Given the description of an element on the screen output the (x, y) to click on. 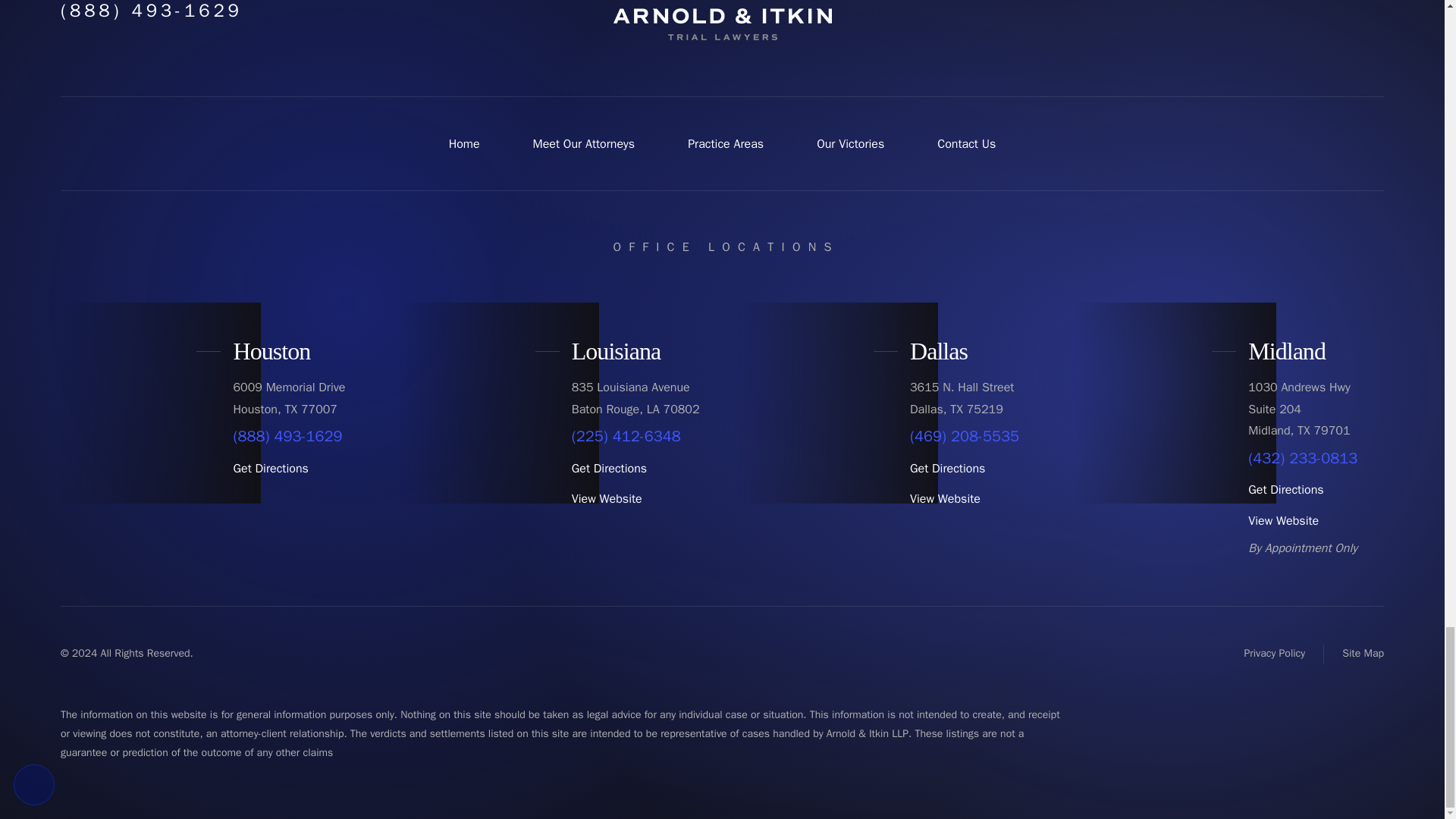
Facebook (1227, 4)
Instagram (1331, 4)
YouTube (1296, 4)
LinkedIn (1366, 4)
Twitter (1261, 4)
